Given the description of an element on the screen output the (x, y) to click on. 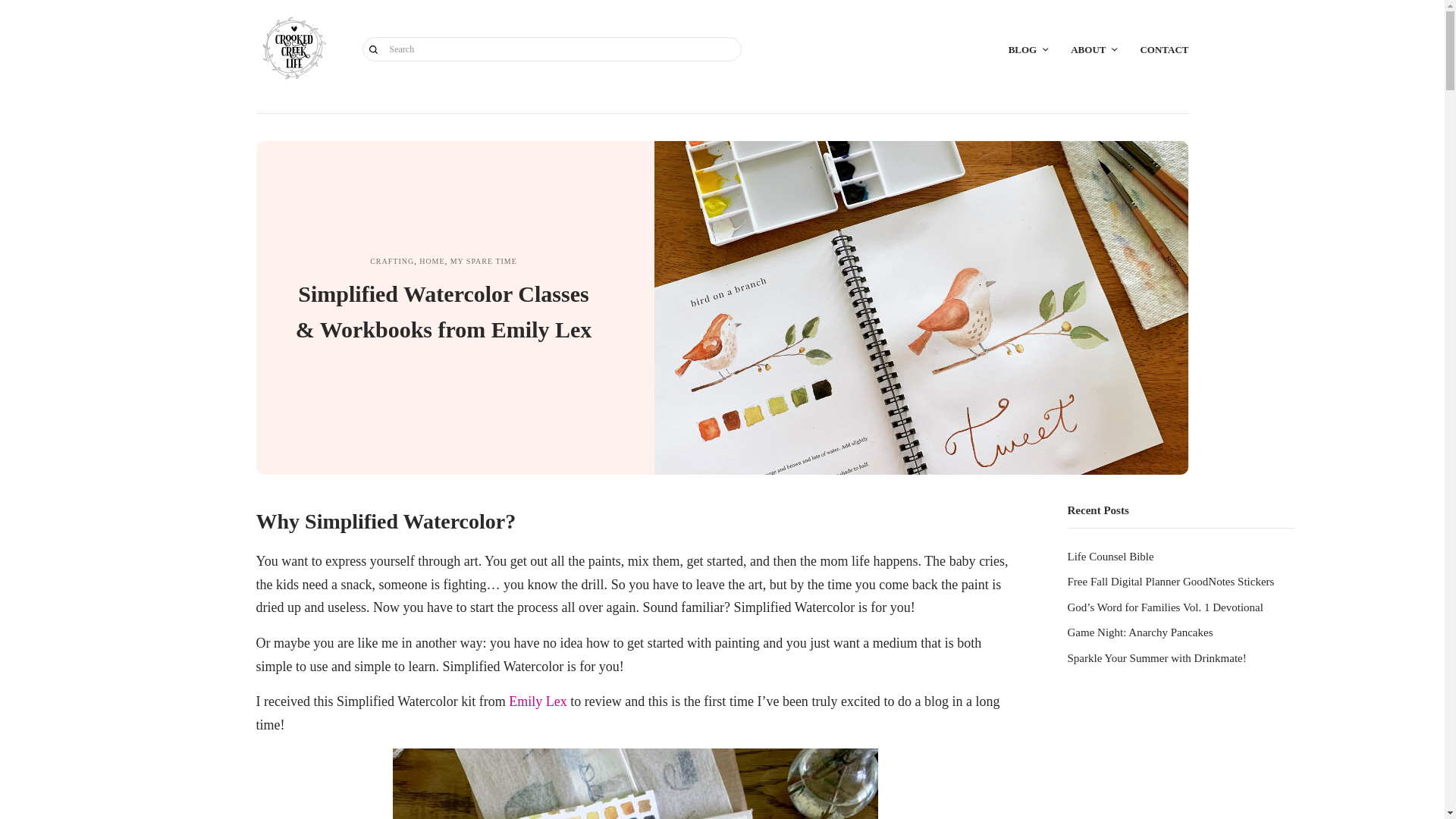
CONTACT (1164, 48)
ABOUT (1093, 48)
HOME (431, 261)
Emily Lex (537, 701)
MY SPARE TIME (482, 261)
Search (373, 48)
BLOG (1028, 48)
CRAFTING (391, 261)
Crooked Creek Life (293, 48)
